Given the description of an element on the screen output the (x, y) to click on. 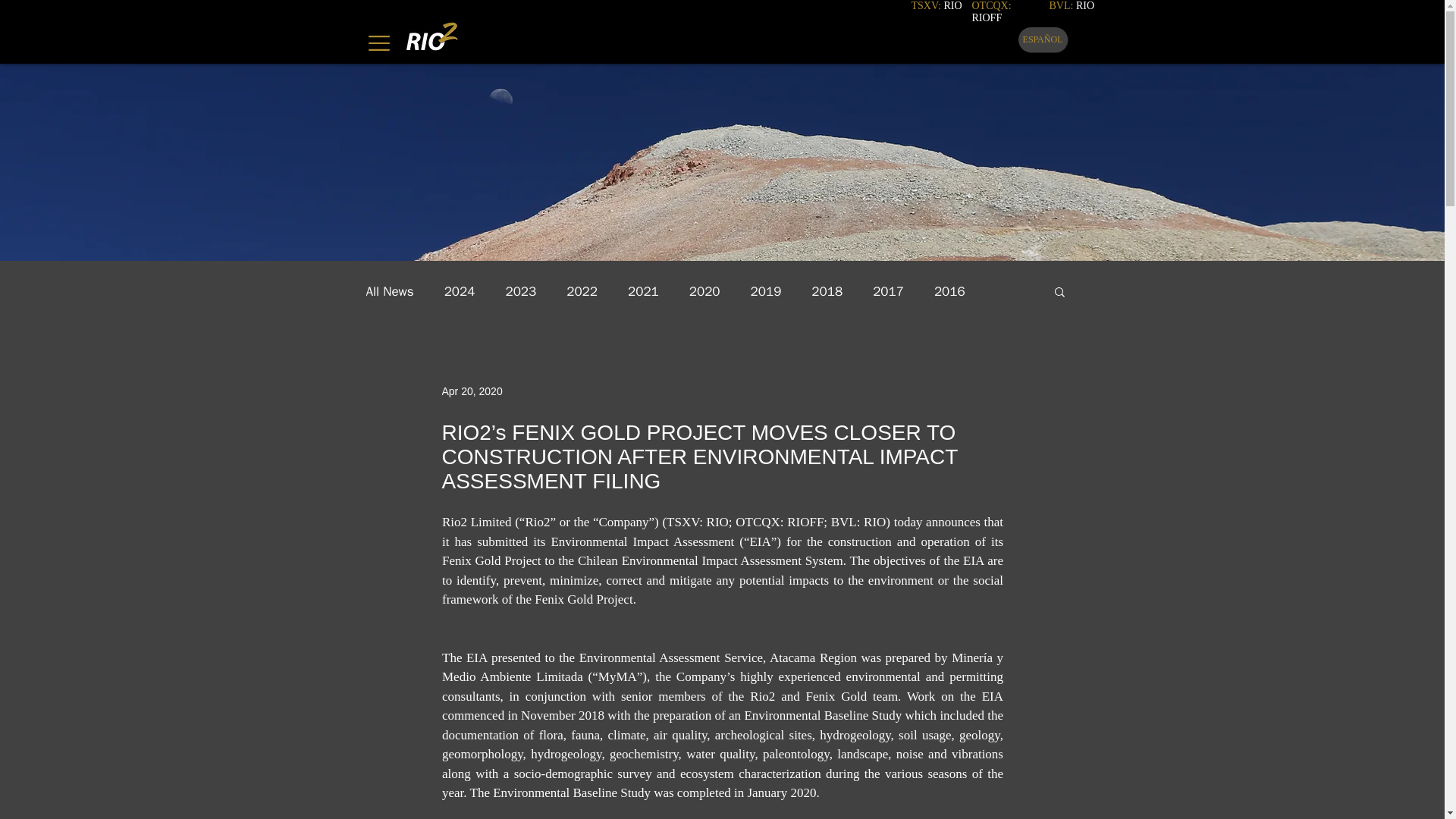
TSXV: RIO (936, 5)
2020 (704, 290)
OTCQX: RIOFF (991, 11)
2023 (520, 290)
All News (389, 290)
2018 (826, 290)
2022 (581, 290)
2019 (766, 290)
Apr 20, 2020 (471, 390)
BVL: RIO (1071, 5)
2024 (460, 290)
2017 (888, 290)
2016 (949, 290)
2021 (643, 290)
